Given the description of an element on the screen output the (x, y) to click on. 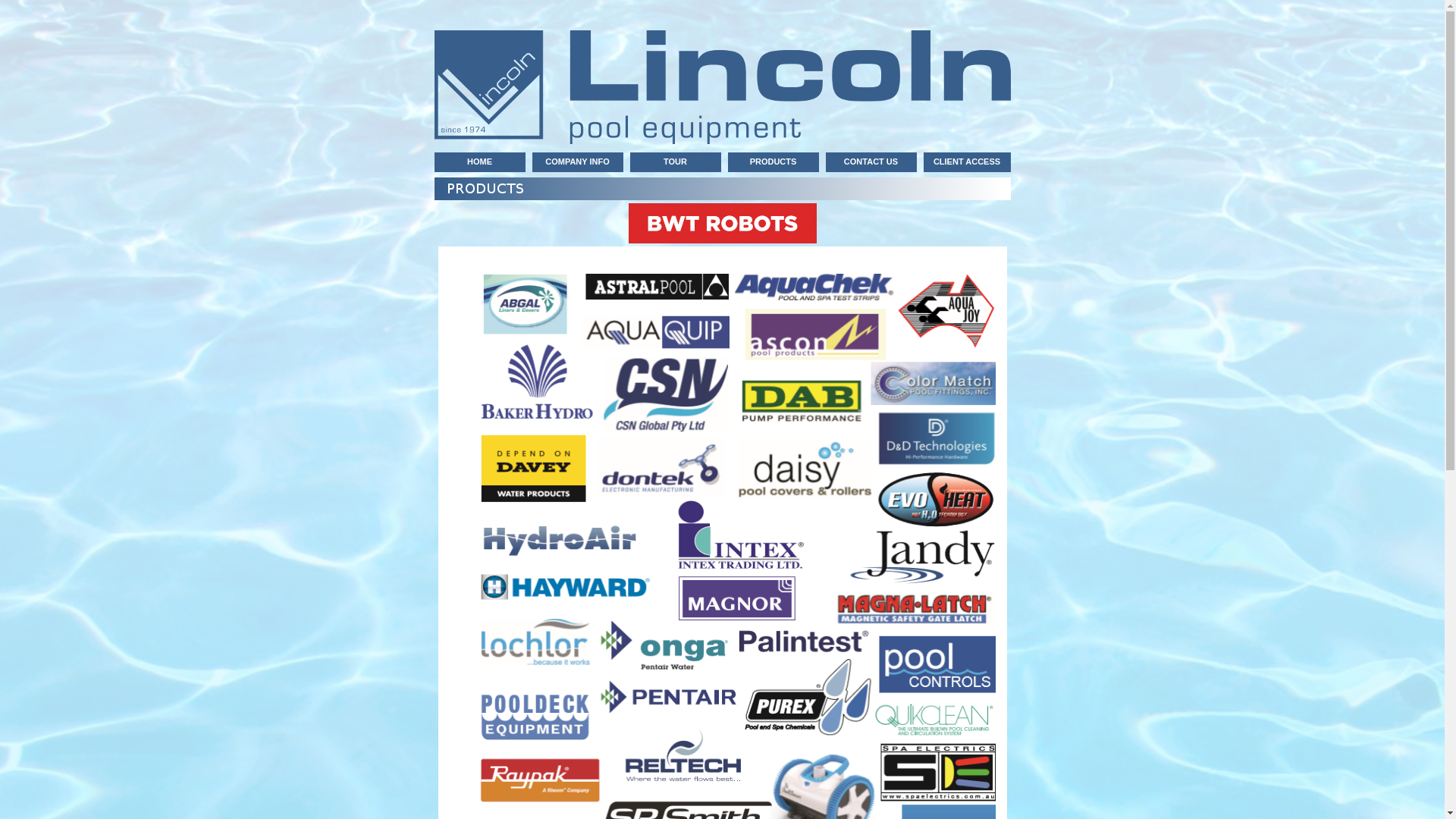
COMPANY INFO Element type: text (577, 162)
CONTACT US Element type: text (870, 162)
TOUR Element type: text (674, 162)
HOME Element type: text (478, 162)
PRODUCTS Element type: text (773, 162)
CLIENT ACCESS Element type: text (966, 162)
